Given the description of an element on the screen output the (x, y) to click on. 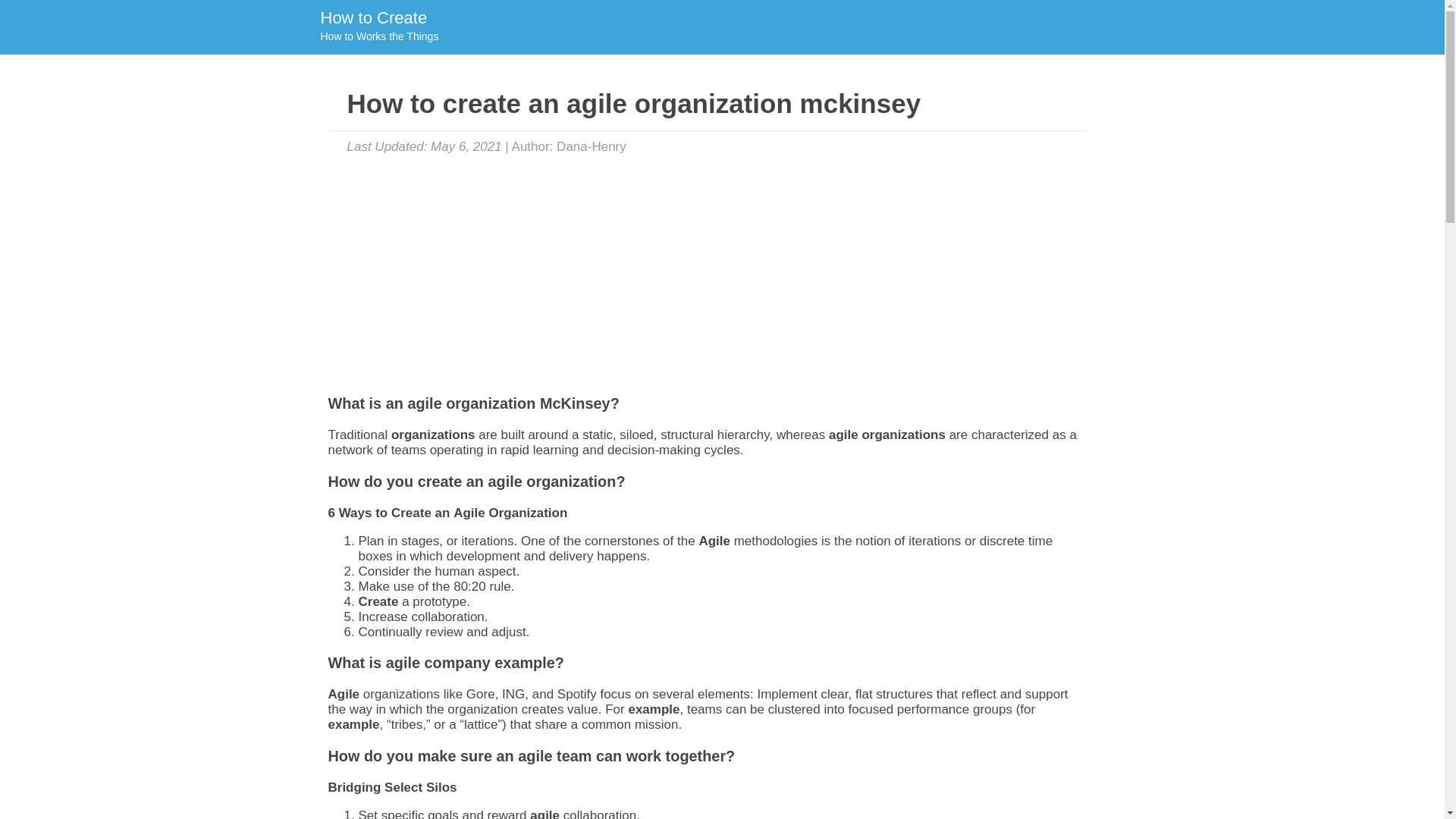
Dana-Henry (378, 27)
Advertisement (591, 146)
